Given the description of an element on the screen output the (x, y) to click on. 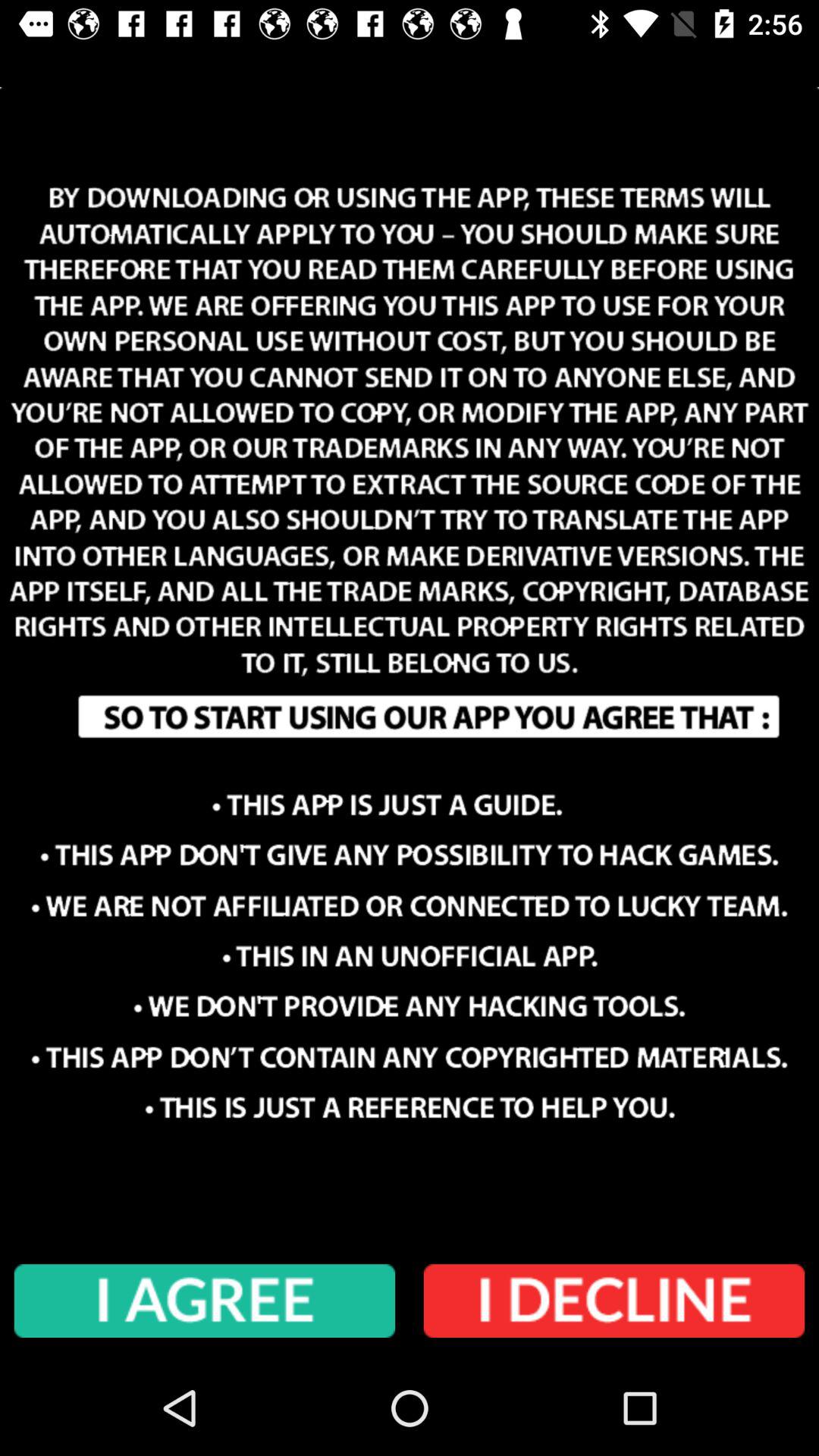
decline option (614, 1301)
